Given the description of an element on the screen output the (x, y) to click on. 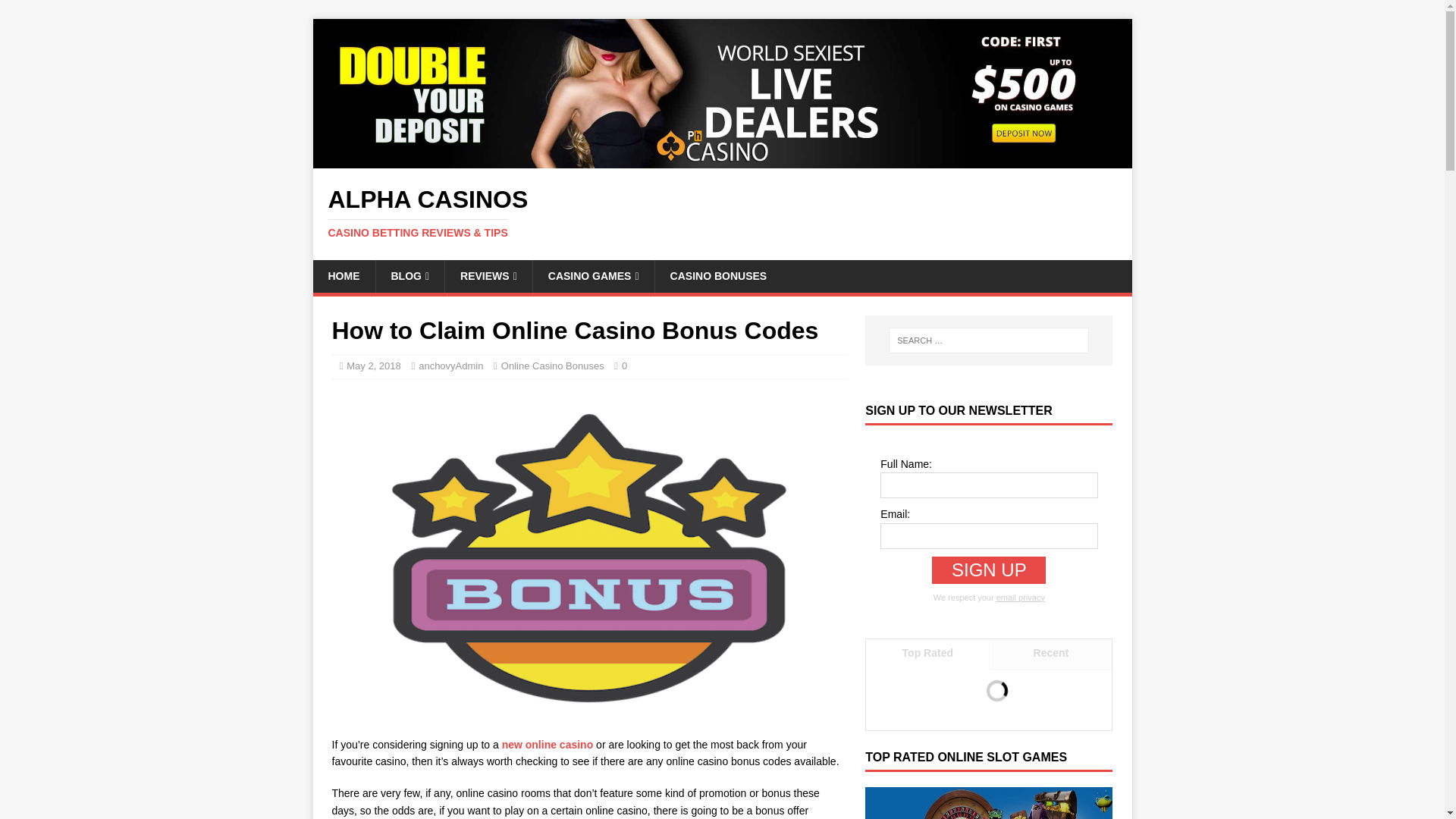
Privacy Policy (1020, 596)
May 2, 2018 (373, 365)
REVIEWS (488, 275)
anchovyAdmin (451, 365)
CASINO BONUSES (718, 275)
new online casino (545, 744)
BLOG (409, 275)
Sign Up (988, 569)
Search (56, 11)
CASINO GAMES (592, 275)
